Given the description of an element on the screen output the (x, y) to click on. 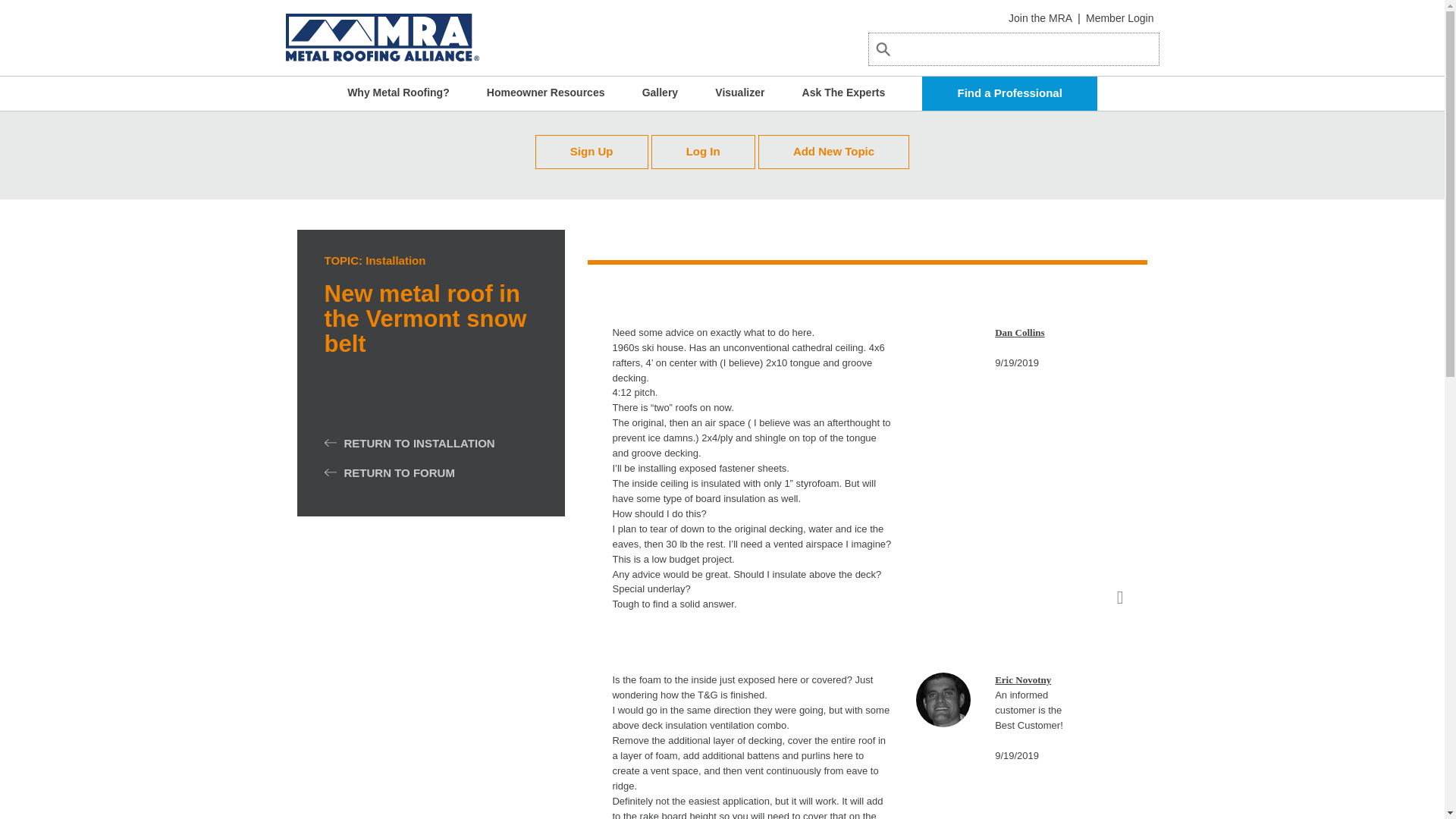
Sept. 19, 2019, 11:40 a.m. (1016, 755)
Find a Professional (1008, 93)
Visualizer (739, 92)
Member Login (1120, 18)
Sept. 19, 2019, 11:21 a.m. (1016, 362)
Why Metal Roofing? (398, 92)
Join the MRA (1040, 18)
Gallery (660, 92)
Search (904, 67)
Homeowner Resources (545, 92)
